Given the description of an element on the screen output the (x, y) to click on. 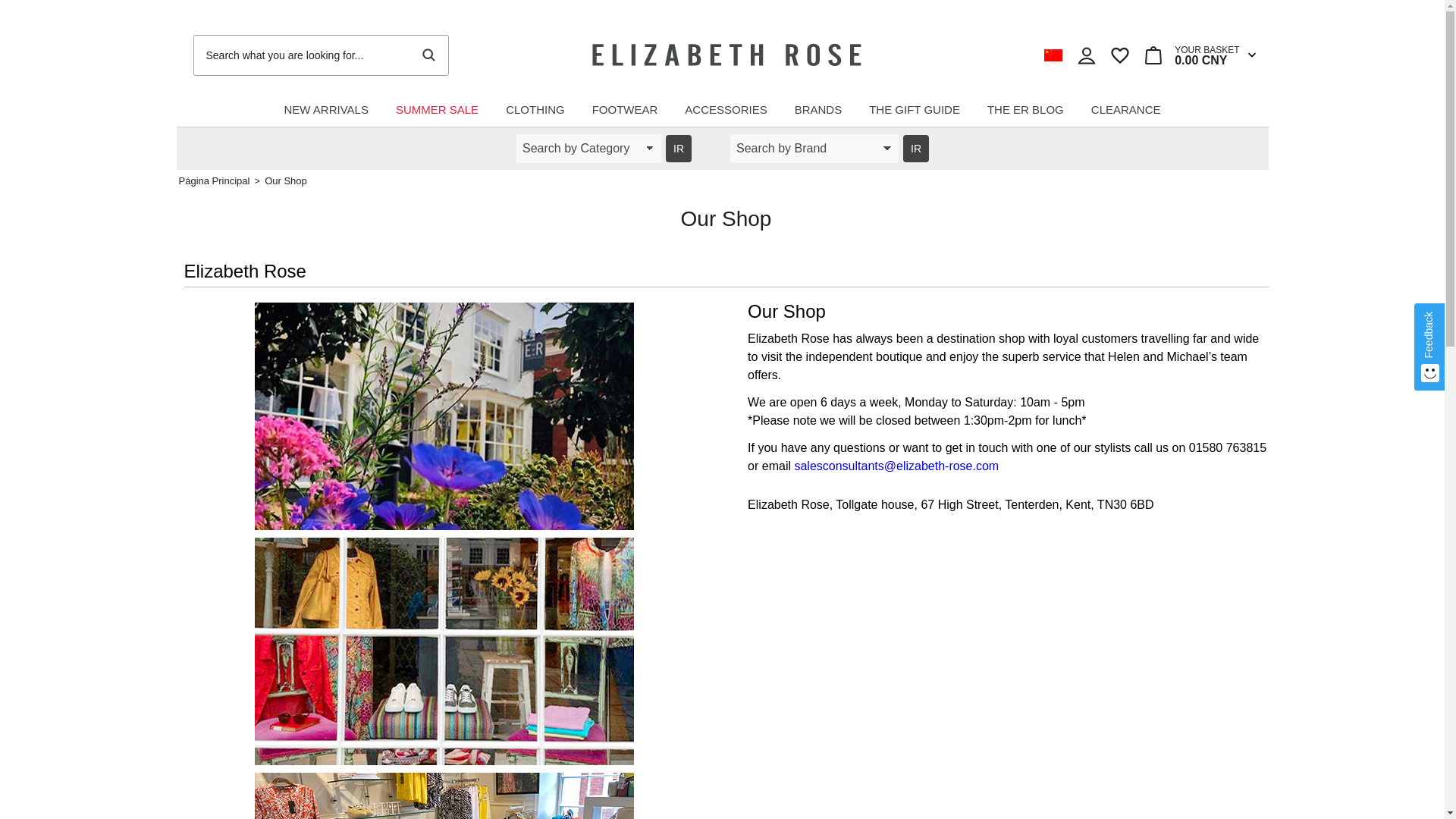
CLOTHING (535, 109)
SUMMER SALE (436, 109)
NEW ARRIVALS (325, 109)
IR (678, 148)
Wishlist (1119, 54)
IR (915, 148)
Account login (1191, 55)
Country Settings (1086, 54)
